Given the description of an element on the screen output the (x, y) to click on. 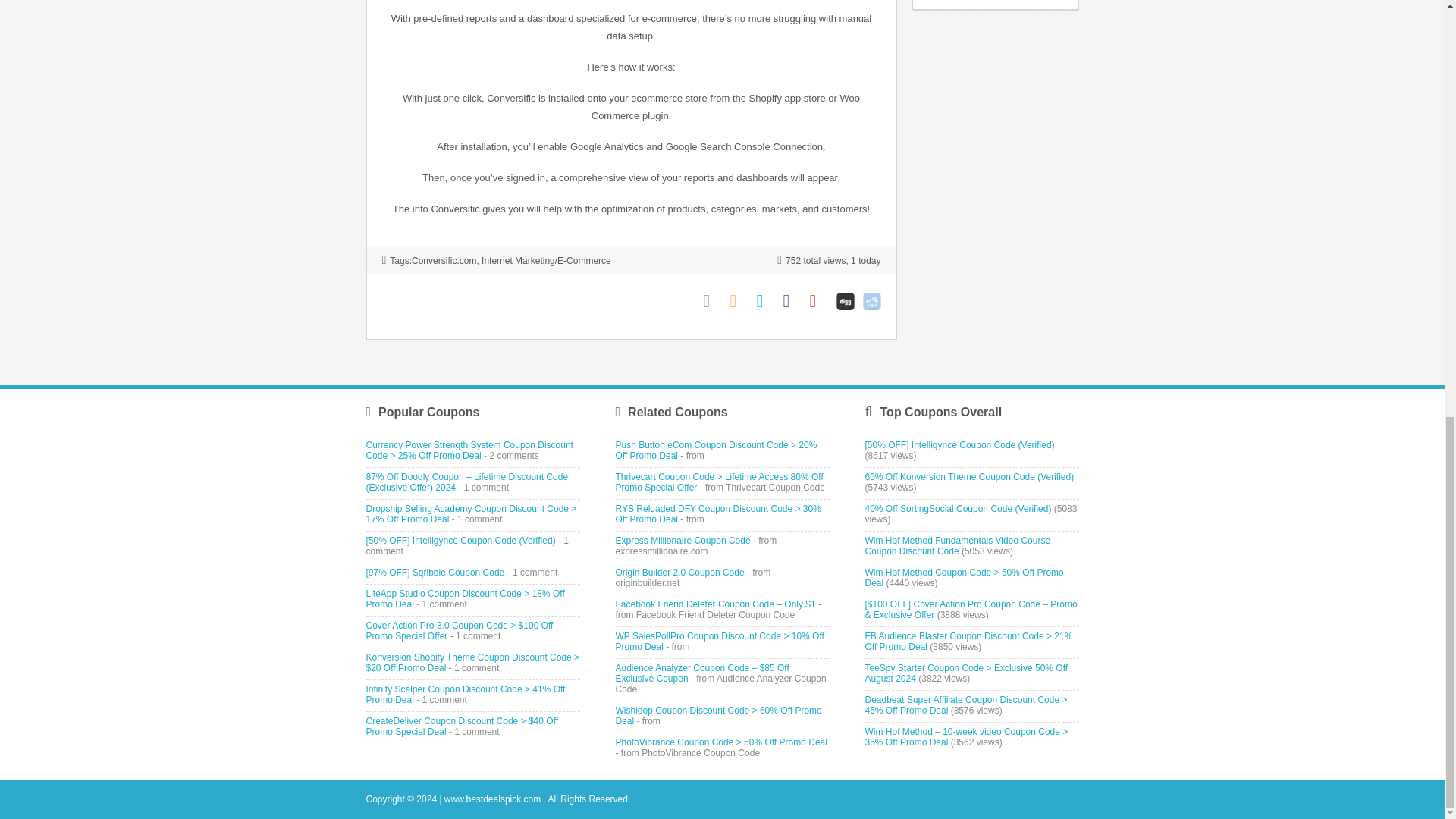
Twitter (765, 301)
Conversific.com (444, 260)
Coupon Comments RSS (738, 301)
Digg (844, 301)
Reddit (871, 301)
Facebook (791, 301)
Email to Friend (712, 301)
Pinterest (818, 301)
